Given the description of an element on the screen output the (x, y) to click on. 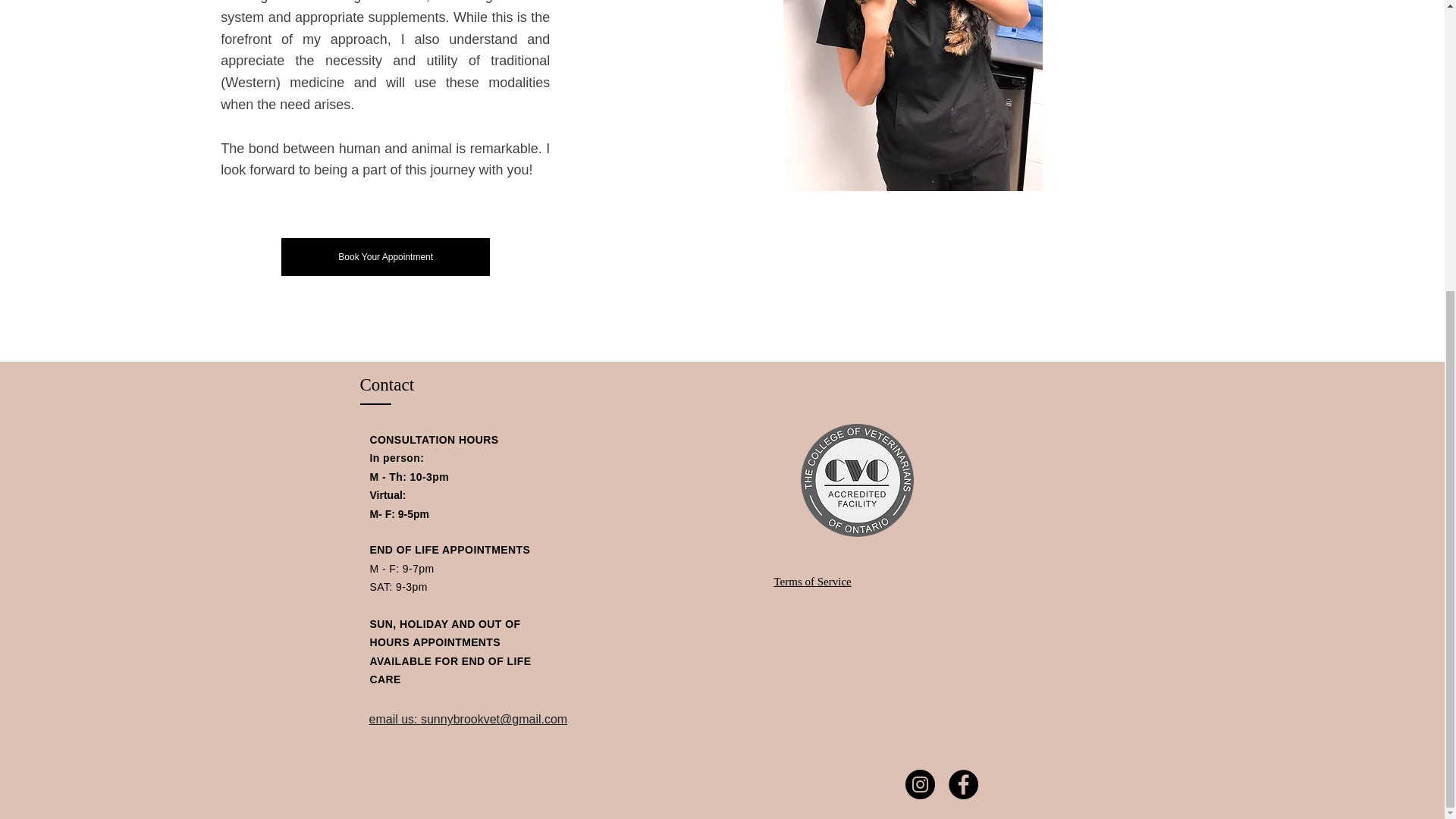
Terms of Service (811, 581)
Book Your Appointment (385, 257)
